Given the description of an element on the screen output the (x, y) to click on. 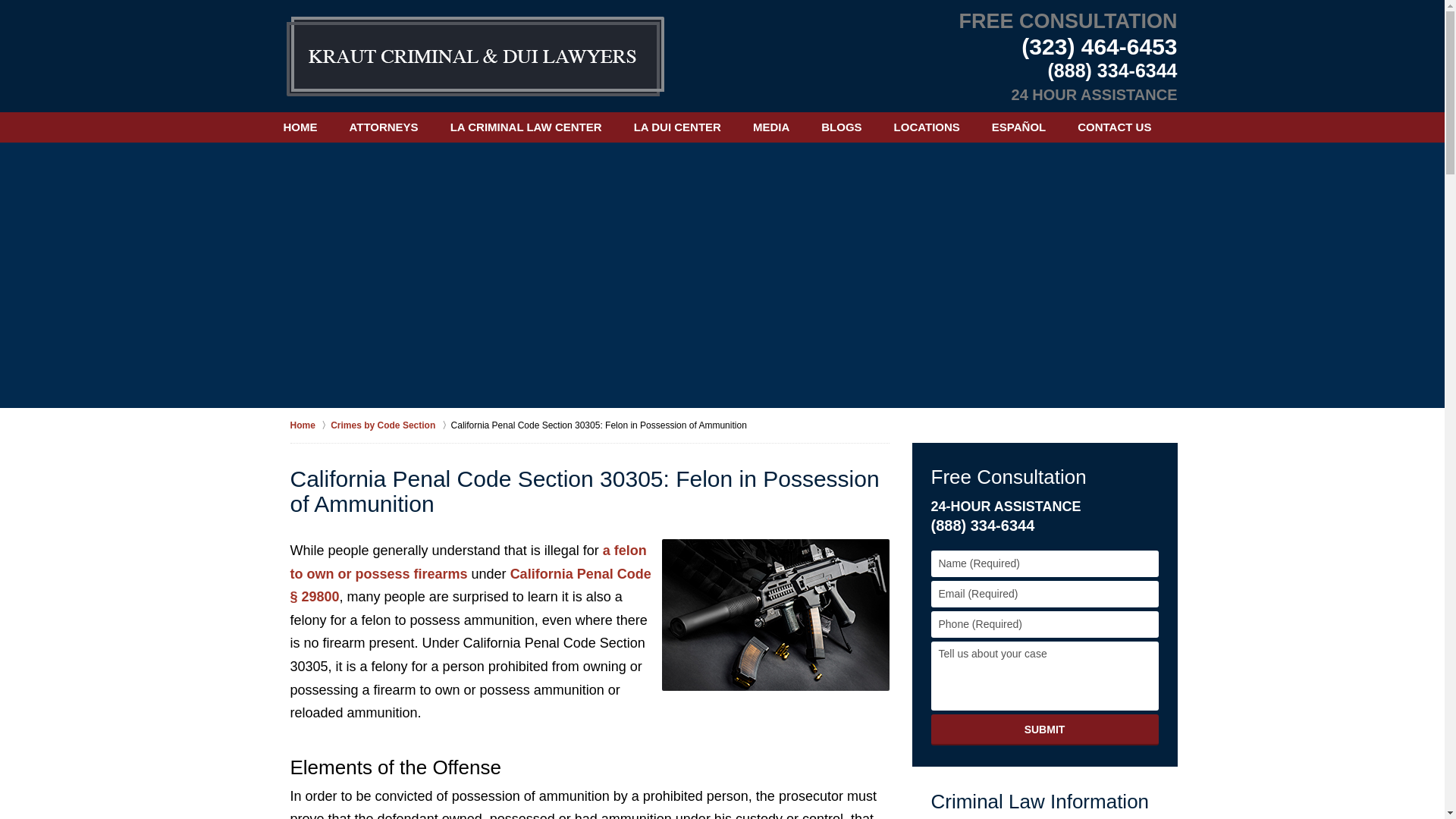
Back to Home (474, 56)
Free Consultation (1008, 477)
CONTACT US (1114, 127)
LA CRIMINAL LAW CENTER (525, 127)
SUBMIT (1044, 729)
ATTORNEYS (383, 127)
LA DUI CENTER (676, 127)
BLOGS (841, 127)
Crimes by Code Section (389, 425)
MEDIA (770, 127)
a felon to own or possess firearms (467, 561)
HOME (299, 127)
LOCATIONS (926, 127)
Home (309, 425)
